Given the description of an element on the screen output the (x, y) to click on. 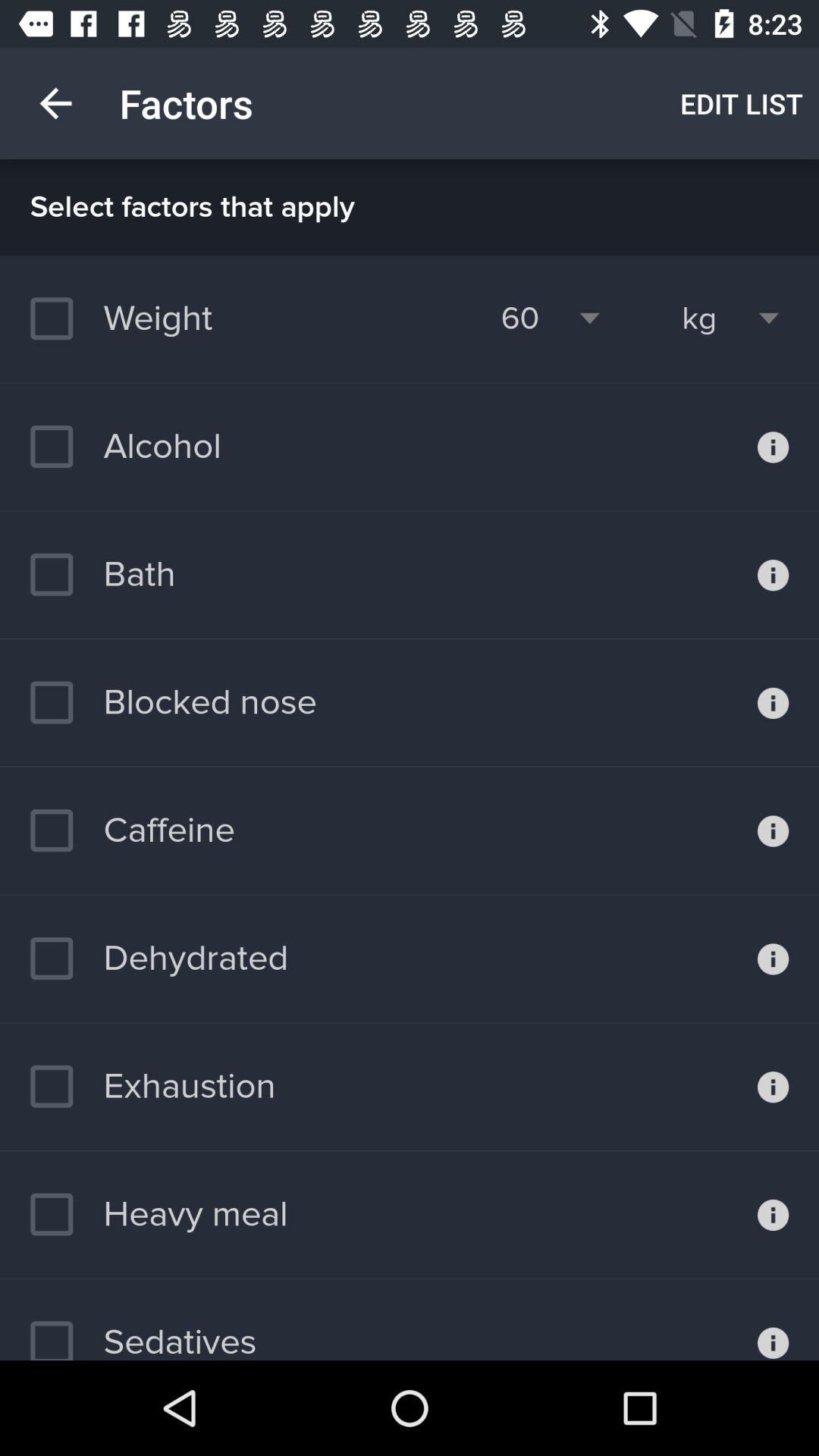
swipe to caffeine (132, 830)
